Given the description of an element on the screen output the (x, y) to click on. 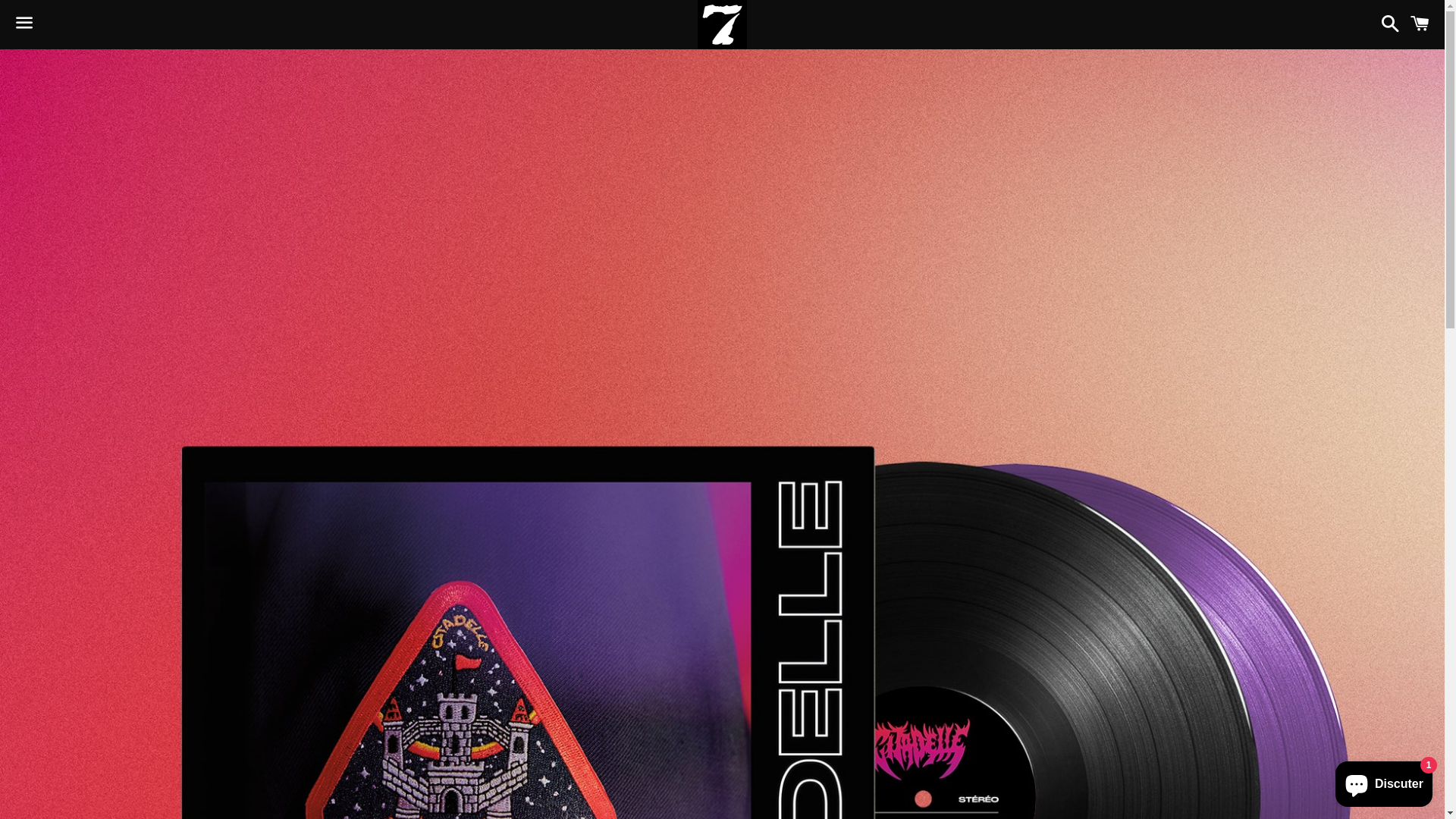
Panier Element type: text (1419, 24)
Menu Element type: text (24, 24)
Chat de la boutique en ligne Shopify Element type: hover (1383, 780)
Recherche Element type: text (1386, 24)
